Given the description of an element on the screen output the (x, y) to click on. 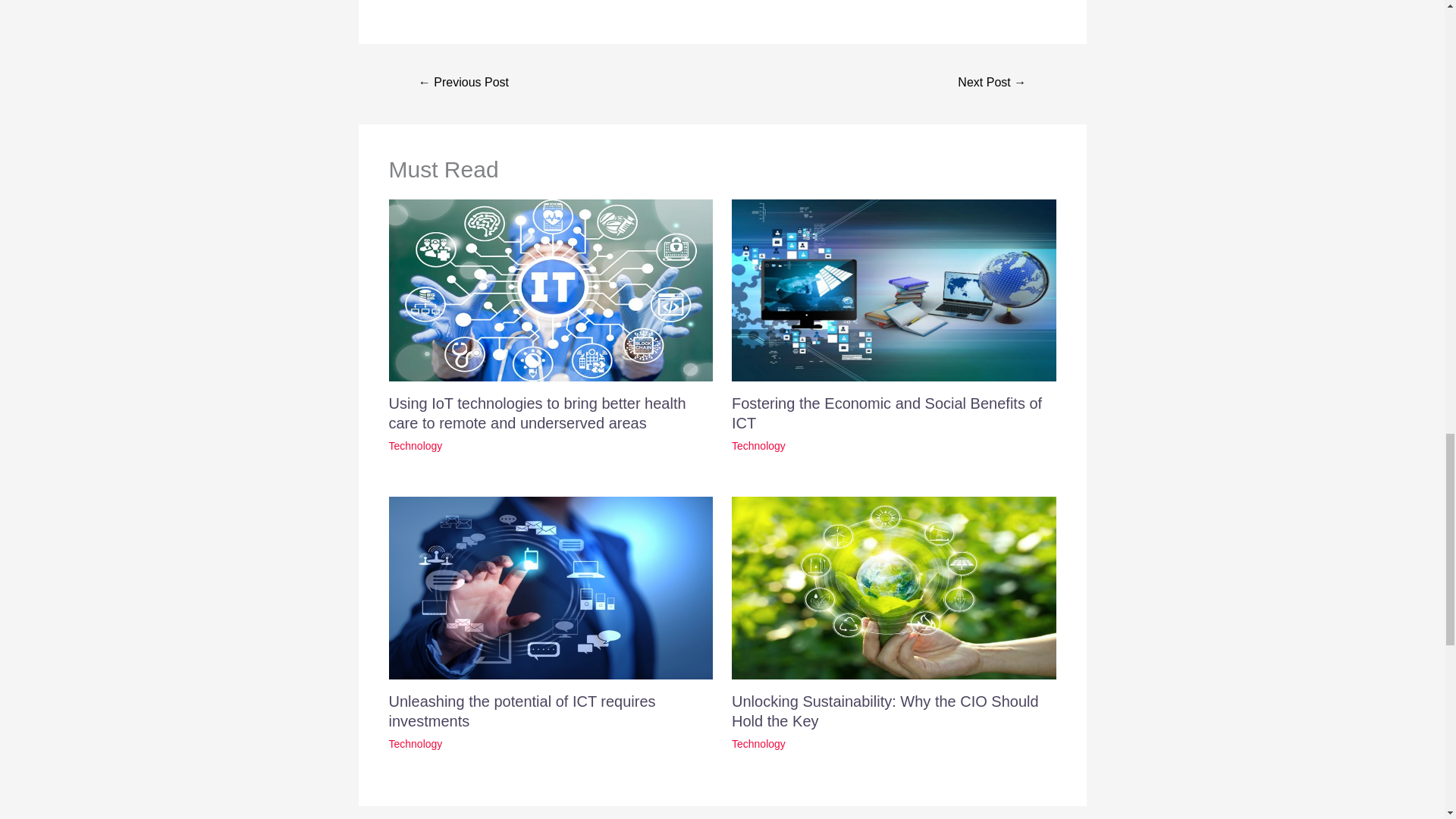
Unleashing the potential of ICT requires investments (521, 710)
Fostering the Economic and Social Benefits of ICT (887, 412)
Unlocking Sustainability: Why the CIO Should Hold the Key (885, 710)
A Closer Look At Consumer Finance Innovations In Norway (463, 83)
Technology (415, 445)
Expert in future marketing - T-model marketer (991, 83)
Technology (759, 445)
Technology (415, 743)
Technology (759, 743)
